Given the description of an element on the screen output the (x, y) to click on. 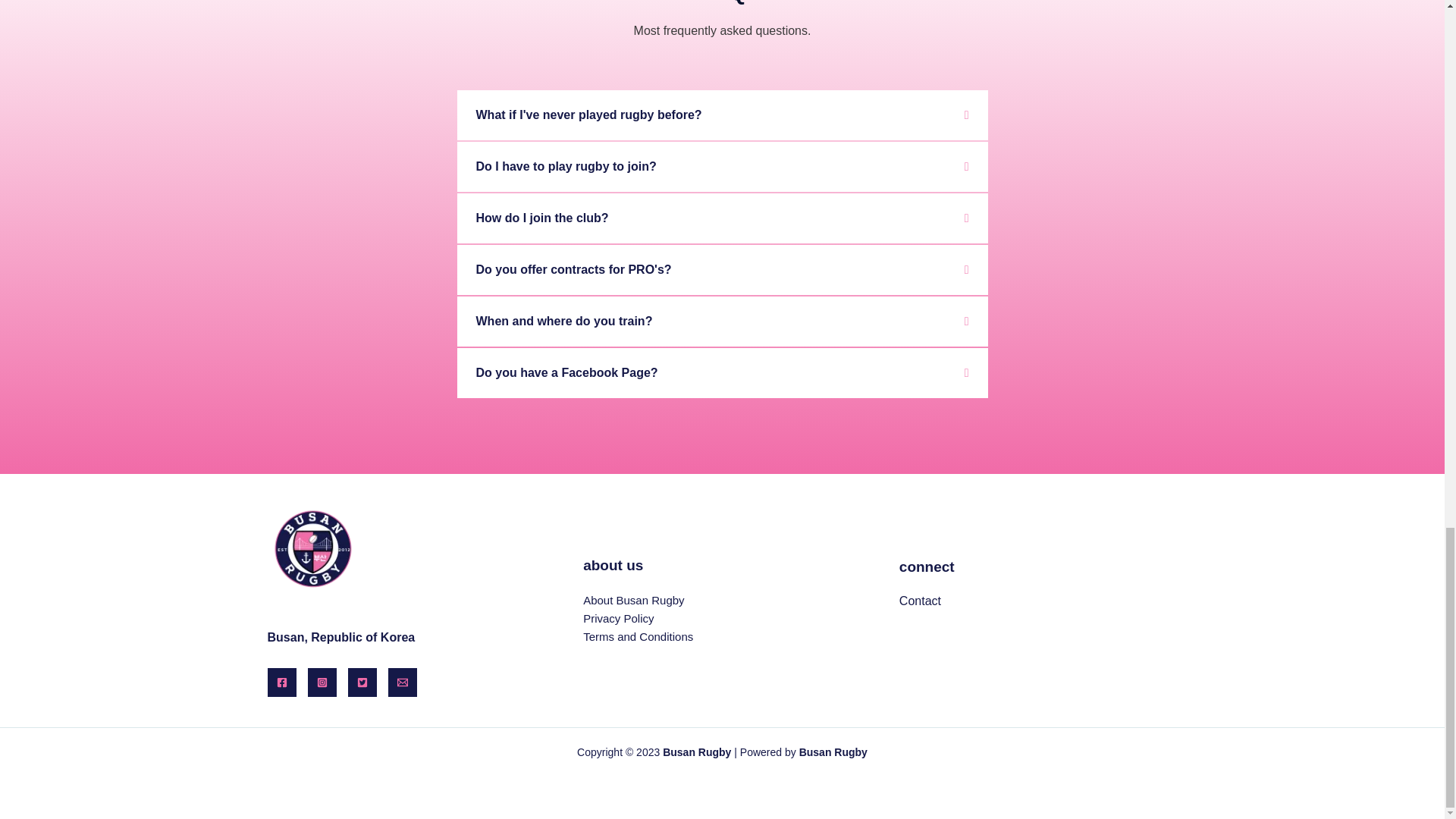
Do you have a Facebook Page? (567, 372)
Do I have to play rugby to join? (566, 165)
Do you offer contracts for PRO's? (573, 269)
How do I join the club? (542, 217)
When and where do you train? (564, 320)
Terms and Conditions (638, 635)
About Busan Rugby (633, 599)
Contact (919, 600)
What if I've never played rugby before? (588, 114)
Busan Rugby (833, 752)
